Given the description of an element on the screen output the (x, y) to click on. 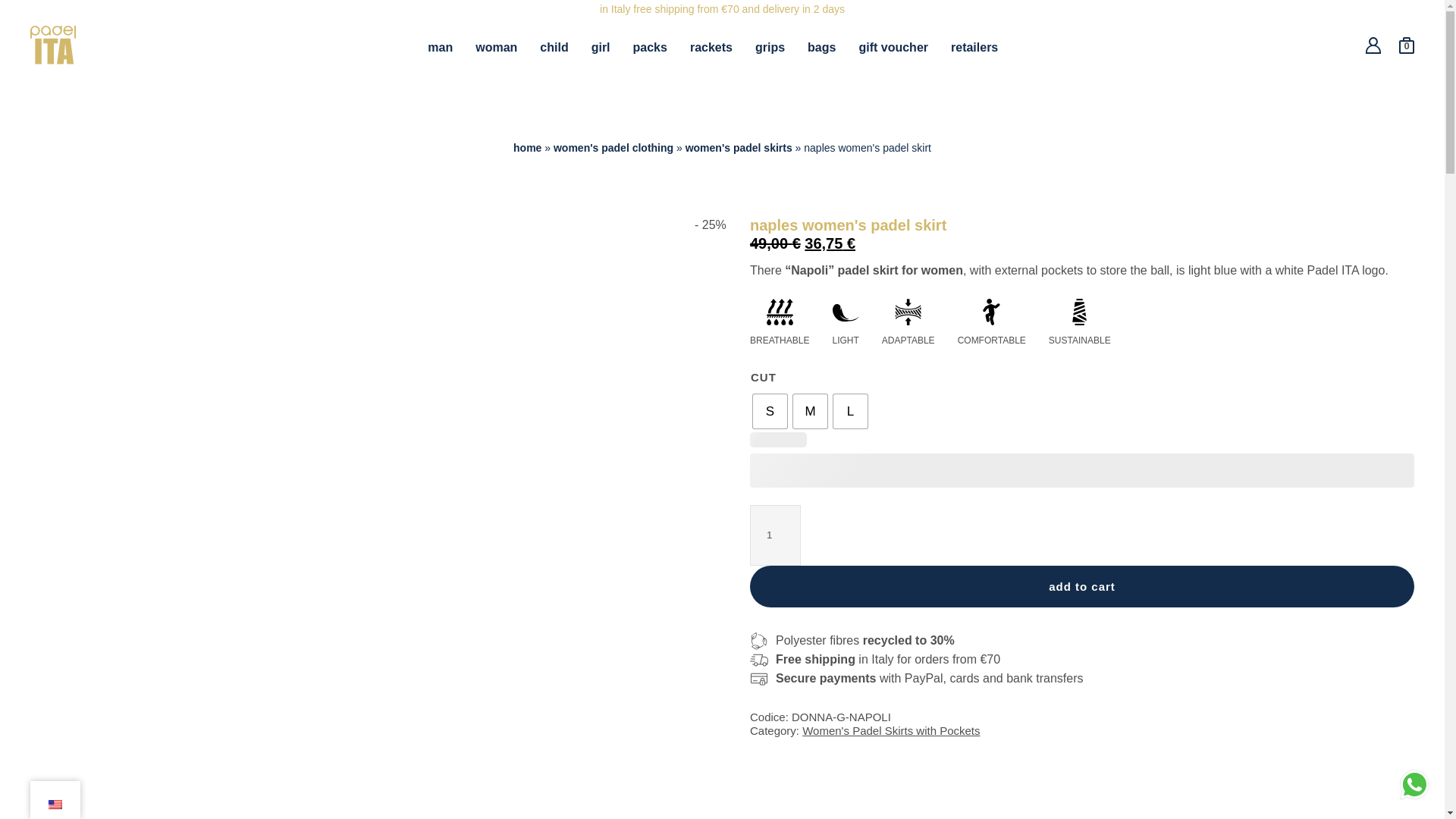
retailers (973, 47)
padel bags (821, 47)
Padel clothing for children (553, 47)
Padel clothing for men (440, 47)
girl (600, 47)
women's padel skirts (738, 147)
padel rackets (711, 47)
women's padel clothing (612, 147)
M (810, 410)
home (527, 147)
buy a gift voucher (893, 47)
add to cart (1081, 586)
Padel ITA (52, 60)
gift voucher (893, 47)
dealer catalogue (973, 47)
